Given the description of an element on the screen output the (x, y) to click on. 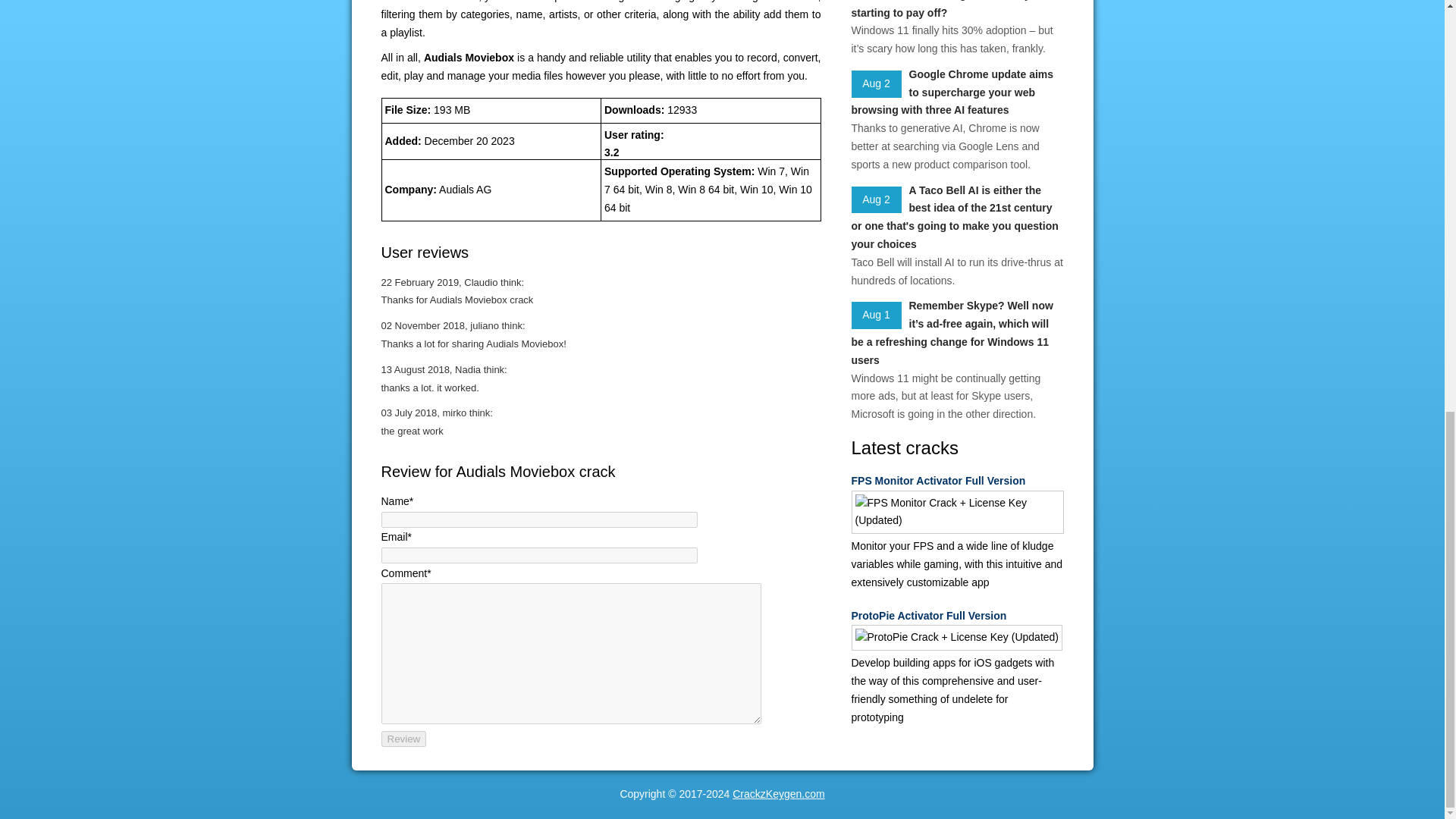
Review (403, 738)
Review (403, 738)
FPS Monitor Activator Full Version (956, 481)
ProtoPie Activator Full Version (956, 616)
CrackzKeygen.com (778, 793)
